Given the description of an element on the screen output the (x, y) to click on. 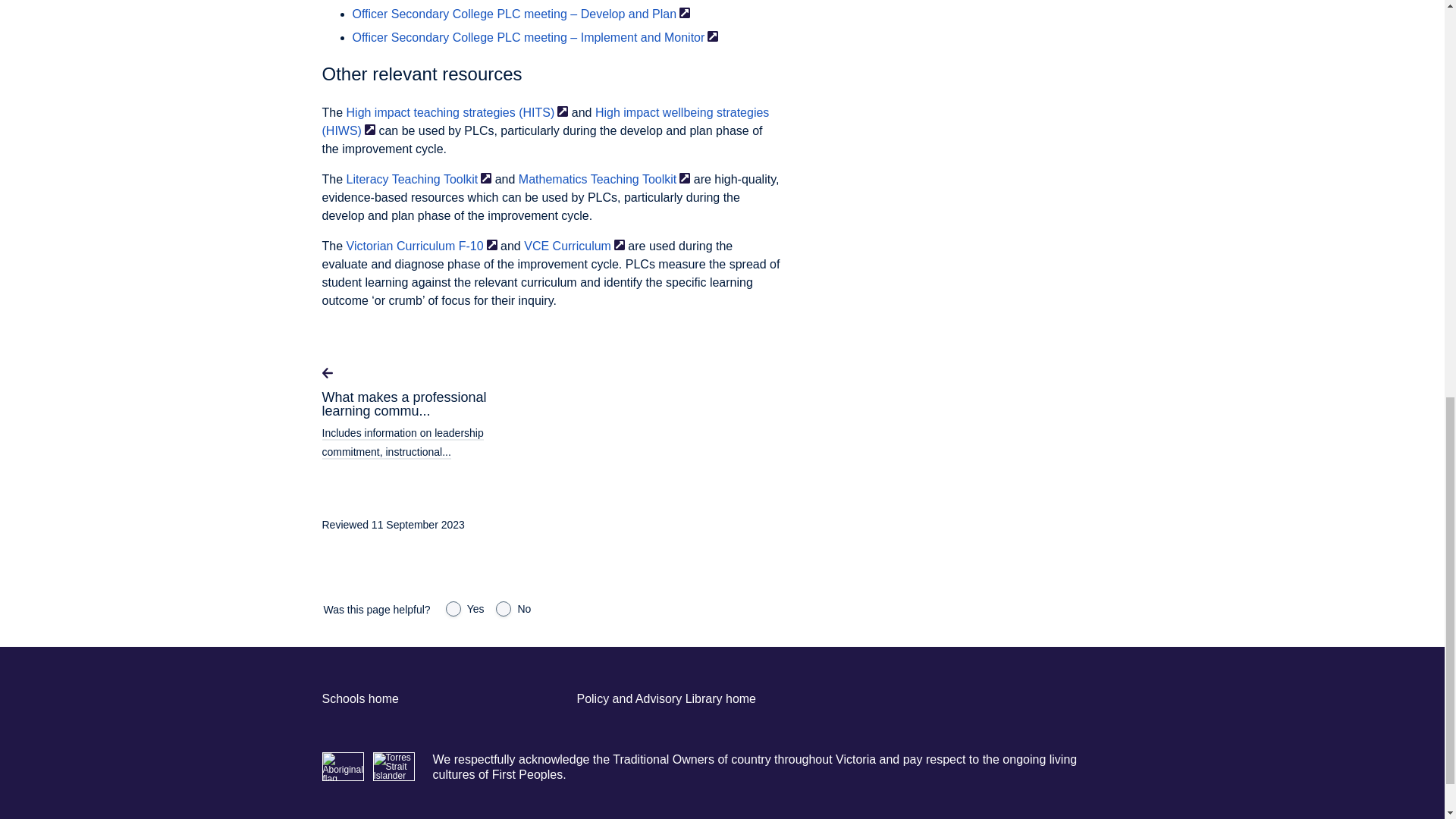
External Link (562, 111)
Policy and Advisory Library home (665, 698)
VCE CurriculumExternal Link (574, 245)
External Link (684, 177)
Mathematics Teaching ToolkitExternal Link (604, 178)
Yes (453, 608)
Schools home (359, 698)
External Link (684, 12)
Literacy Teaching ToolkitExternal Link (419, 178)
External Link (491, 244)
